Given the description of an element on the screen output the (x, y) to click on. 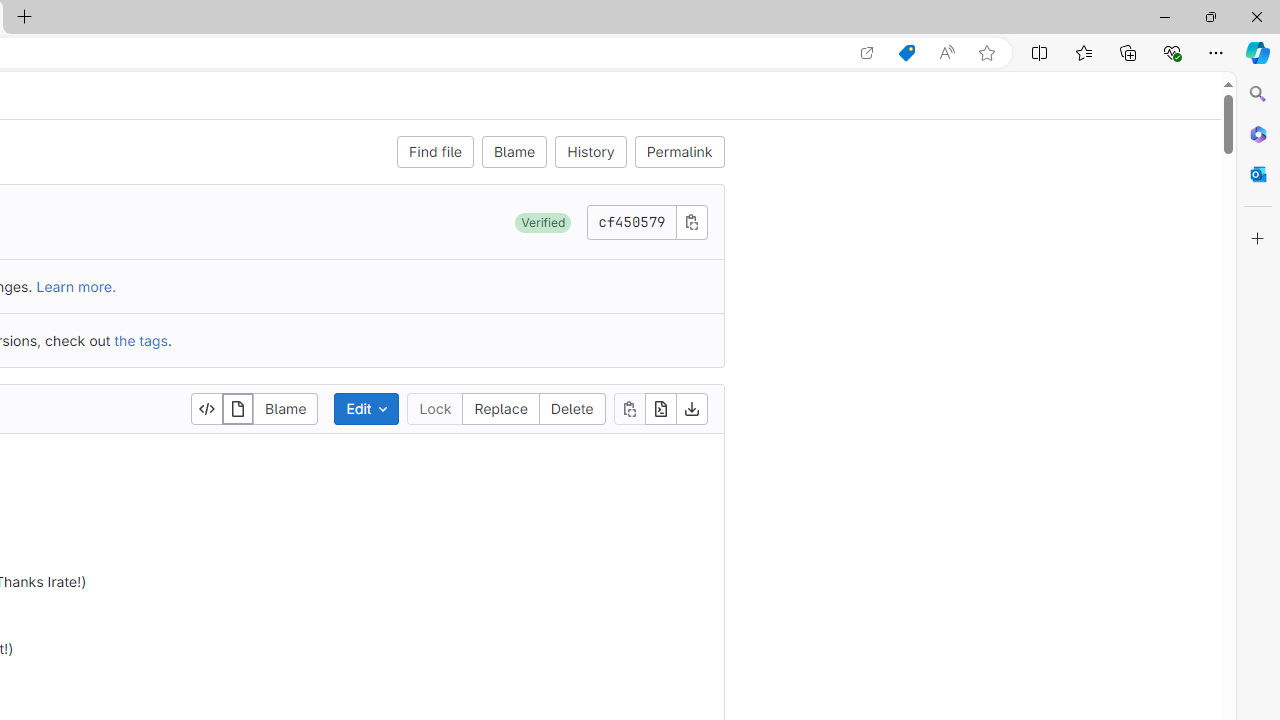
Learn more. (75, 286)
Replace (501, 408)
Blame (285, 408)
Open in app (867, 53)
